Given the description of an element on the screen output the (x, y) to click on. 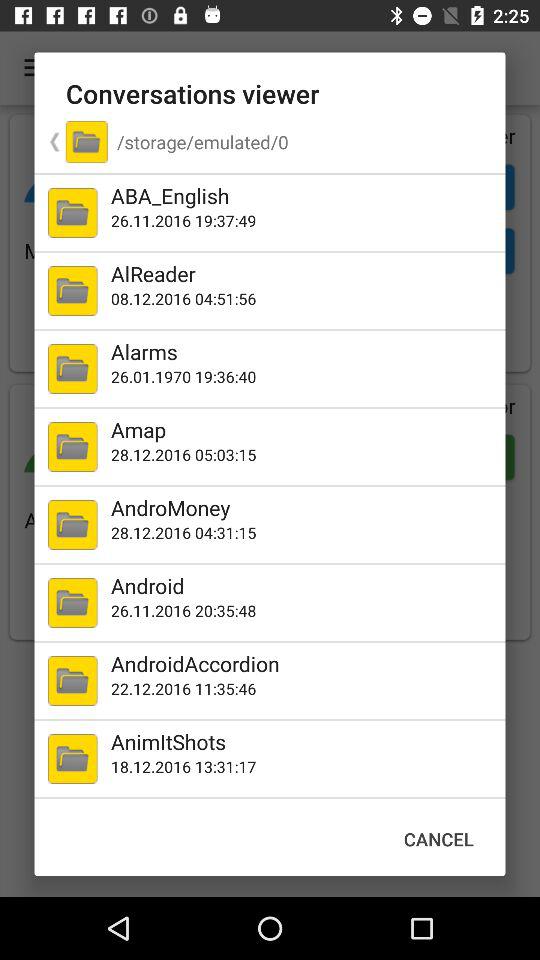
scroll until the alarms (304, 351)
